Given the description of an element on the screen output the (x, y) to click on. 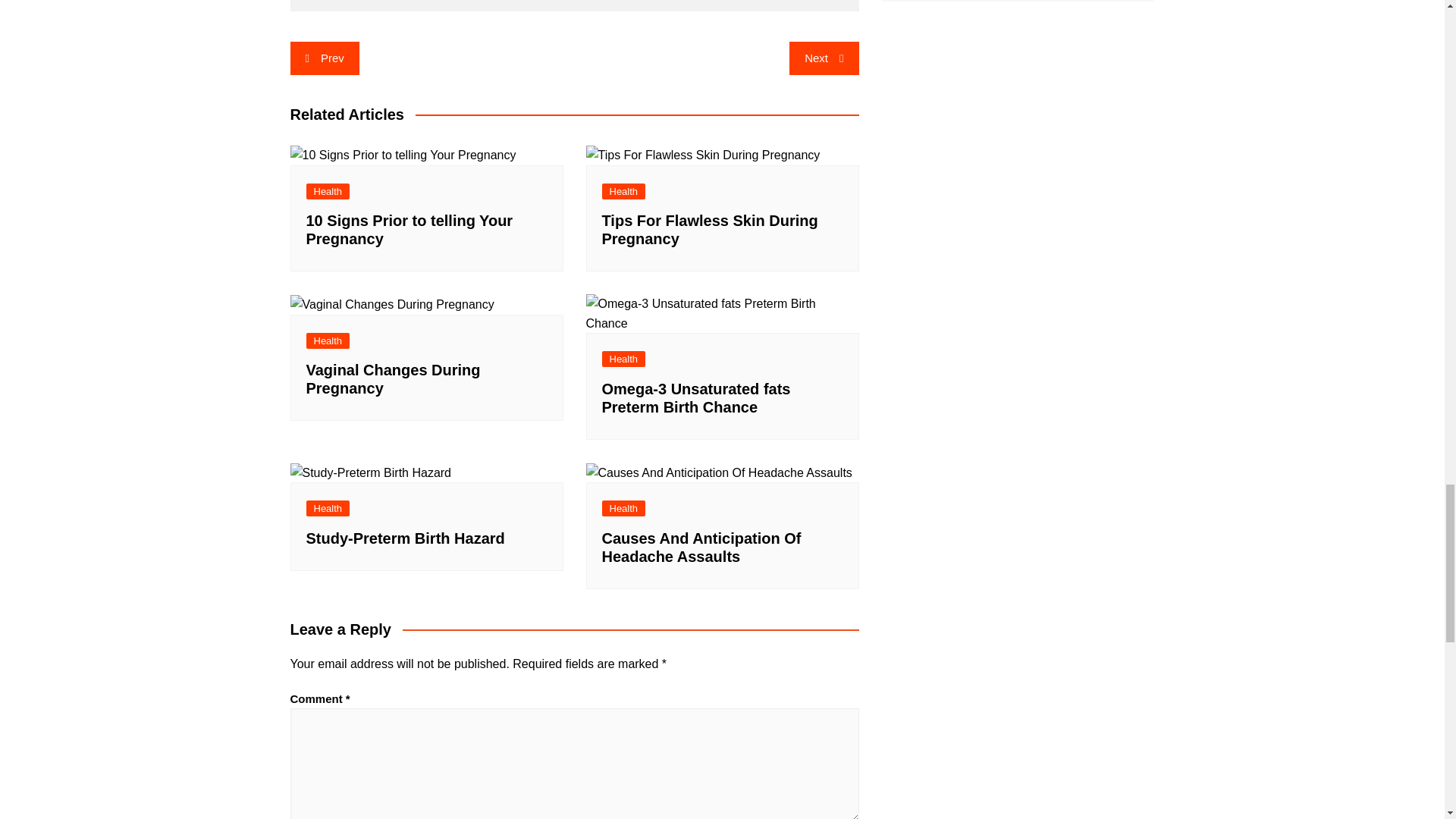
Next (824, 58)
Study-Preterm Birth Hazard (370, 473)
Vaginal Changes During Pregnancy (391, 304)
Tips For Flawless Skin During Pregnancy (702, 155)
Prev (323, 58)
Causes And Anticipation Of Headache Assaults (718, 473)
Omega-3 Unsaturated fats Preterm Birth Chance (722, 313)
10 Signs Prior to telling Your Pregnancy (402, 155)
